Given the description of an element on the screen output the (x, y) to click on. 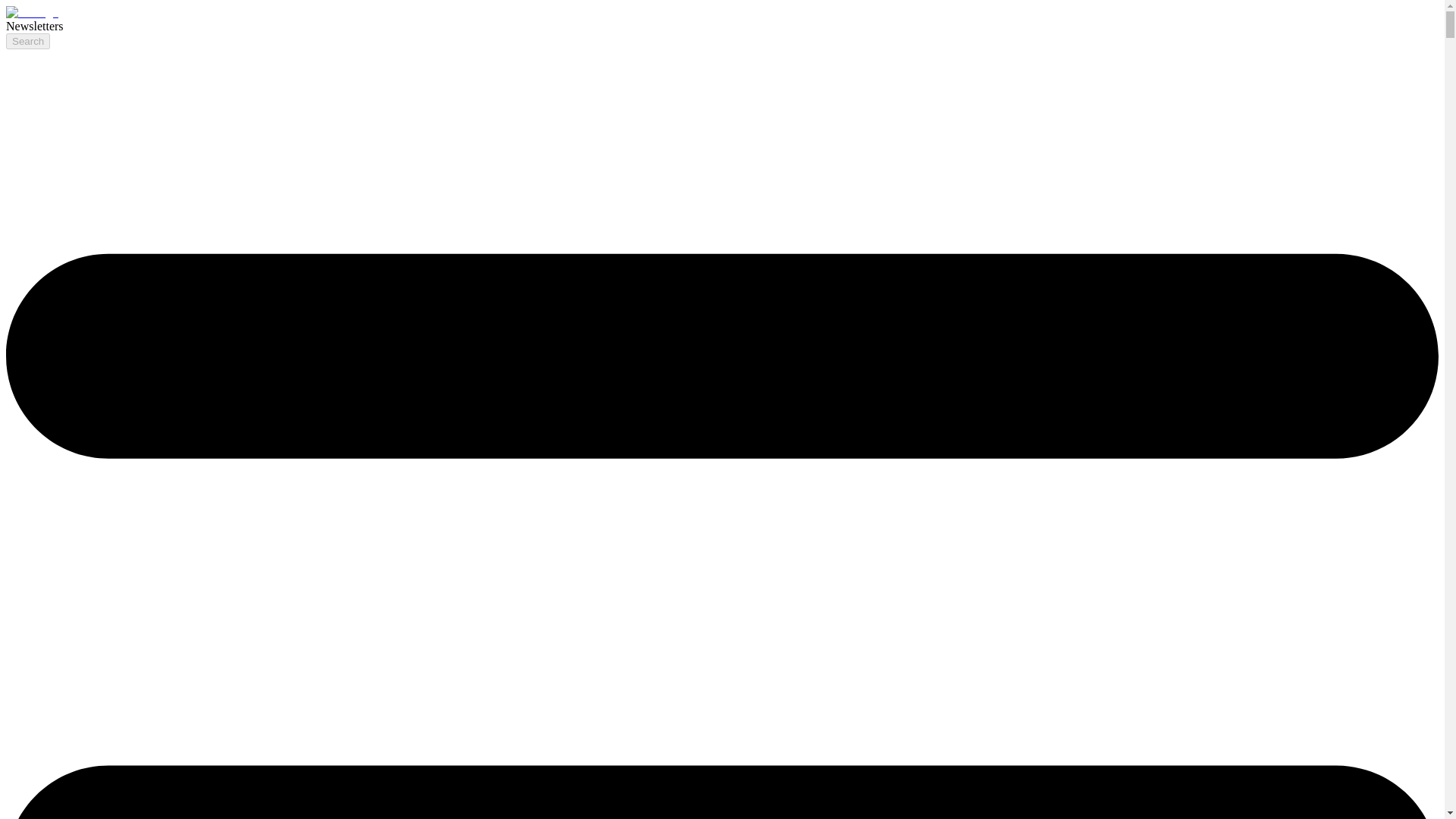
Search (27, 41)
